Given the description of an element on the screen output the (x, y) to click on. 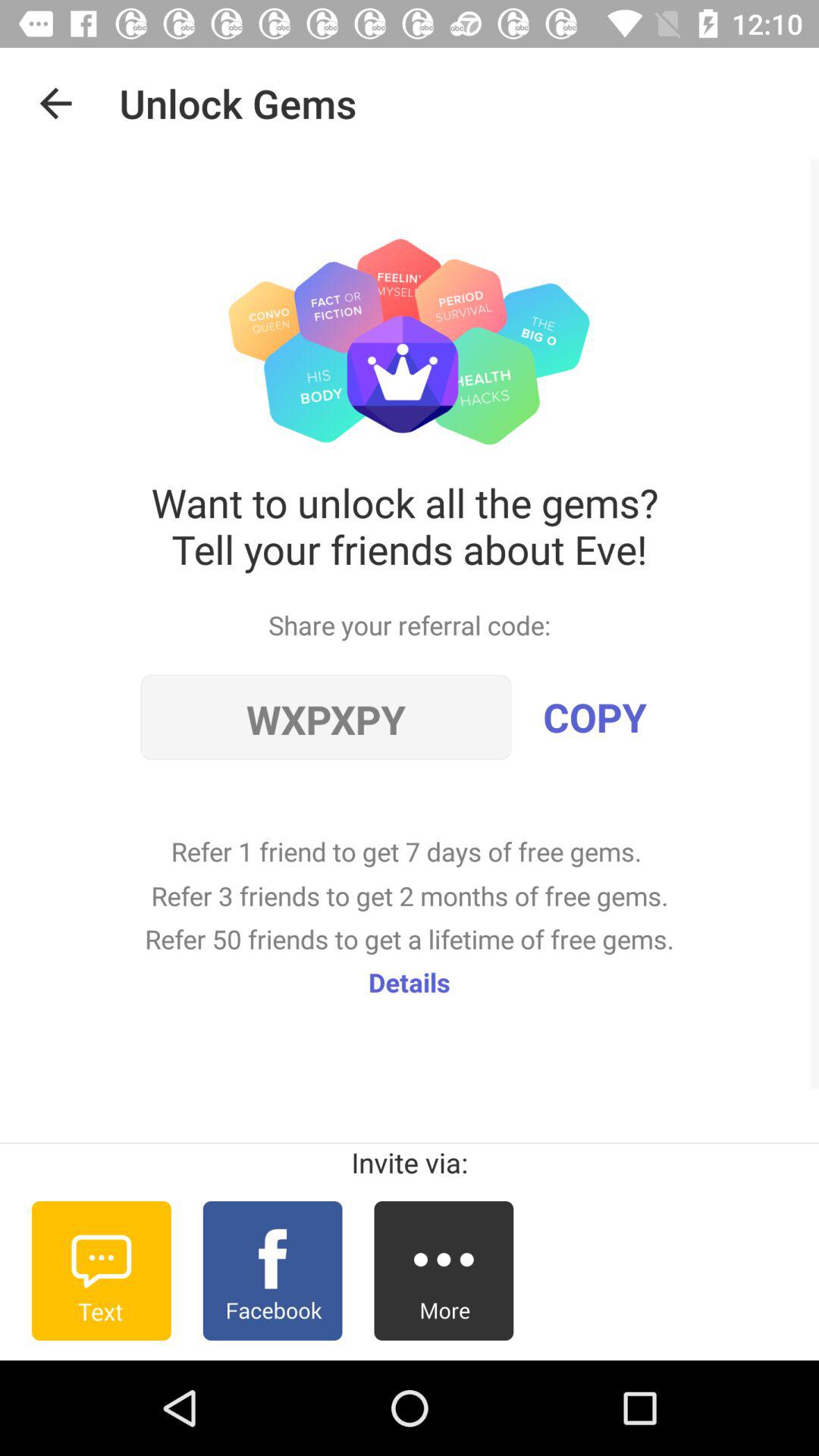
tap item next to the unlock gems (55, 103)
